Given the description of an element on the screen output the (x, y) to click on. 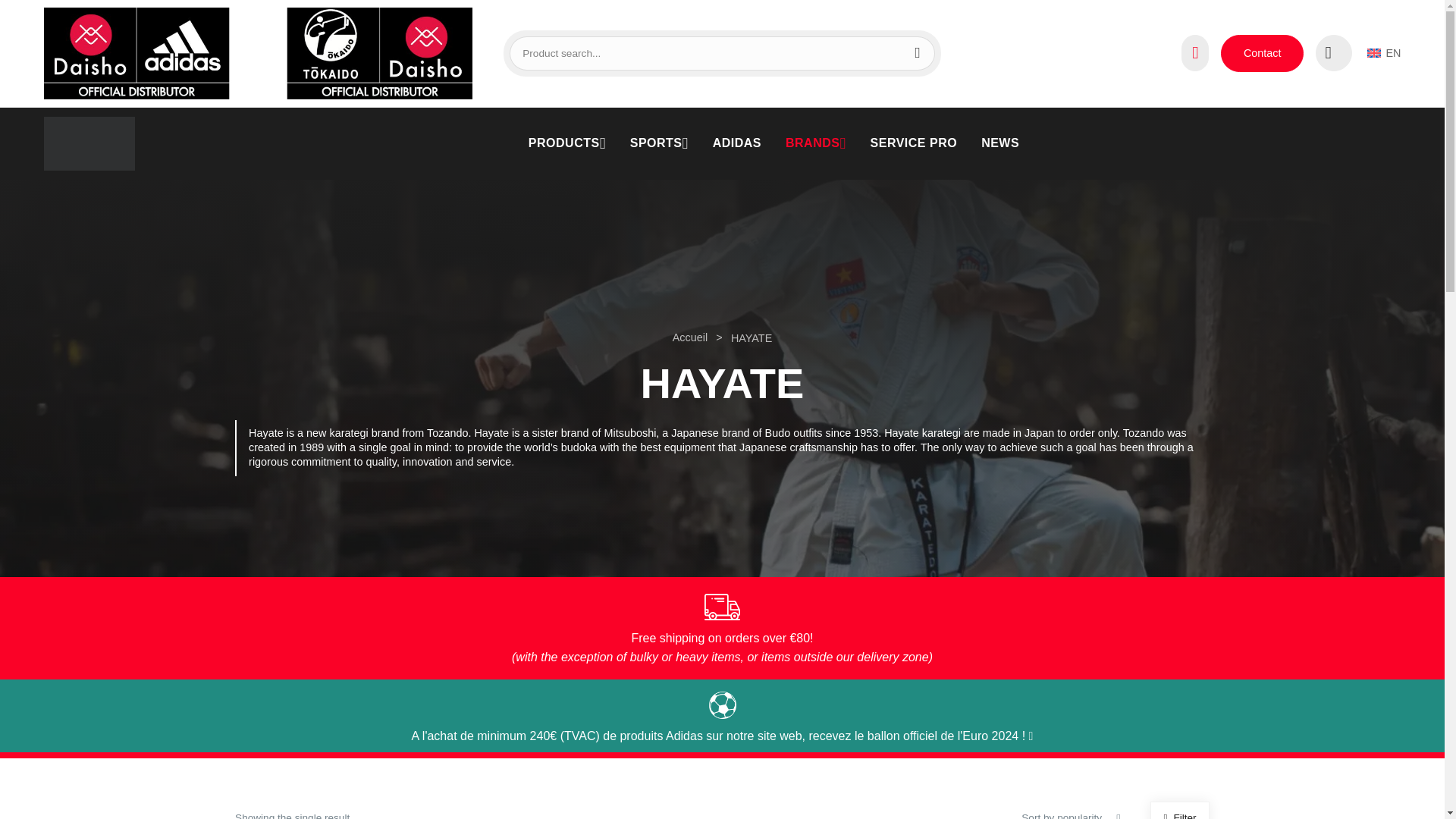
Contact (1262, 53)
PRODUCTS (566, 143)
